Given the description of an element on the screen output the (x, y) to click on. 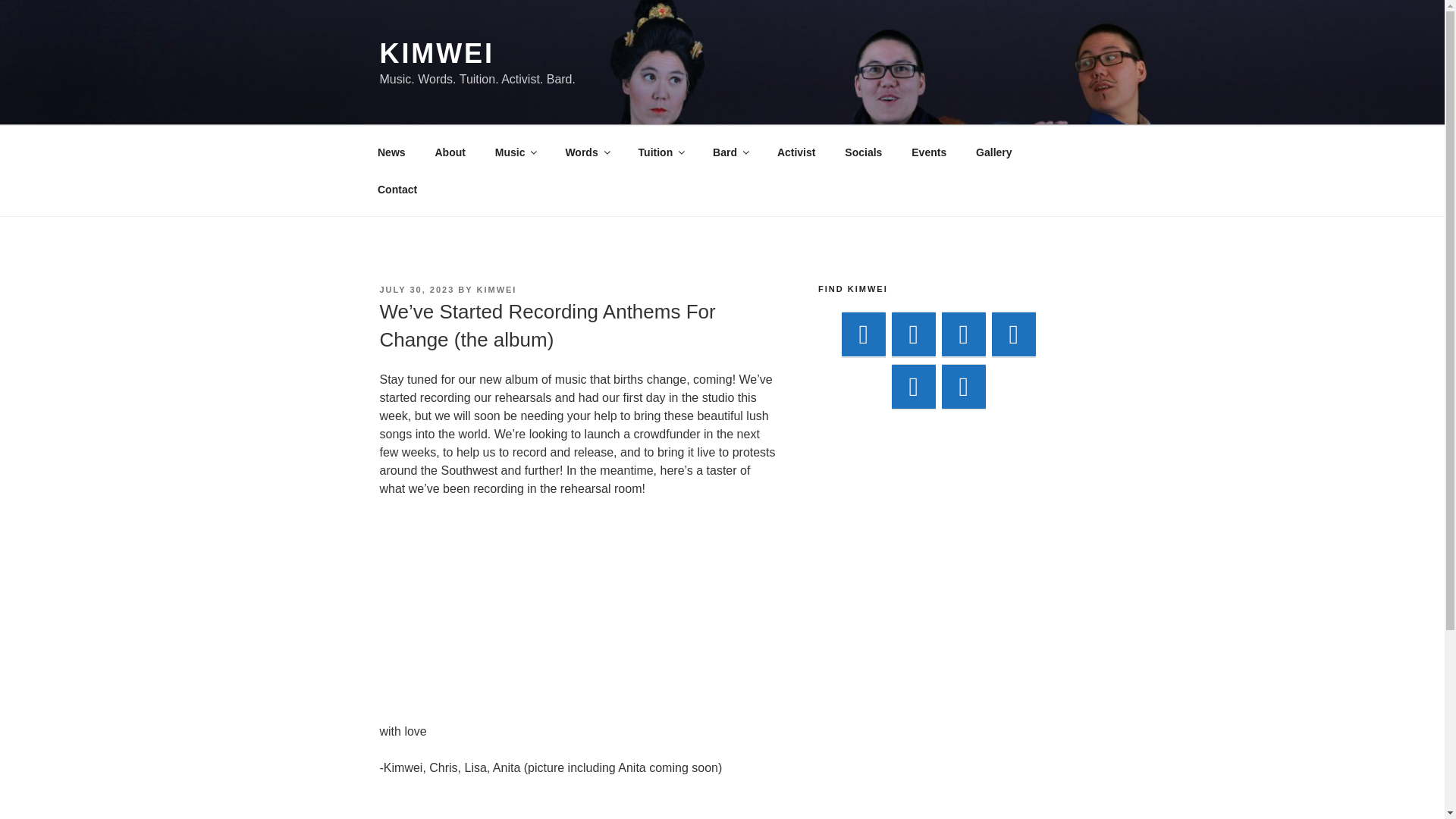
Facebook (913, 334)
Bandcamp (863, 334)
YouTube (963, 334)
Contact (396, 189)
Words (586, 151)
Socials (863, 151)
Tuition (660, 151)
News (391, 151)
JULY 30, 2023 (416, 289)
Music (514, 151)
